Given the description of an element on the screen output the (x, y) to click on. 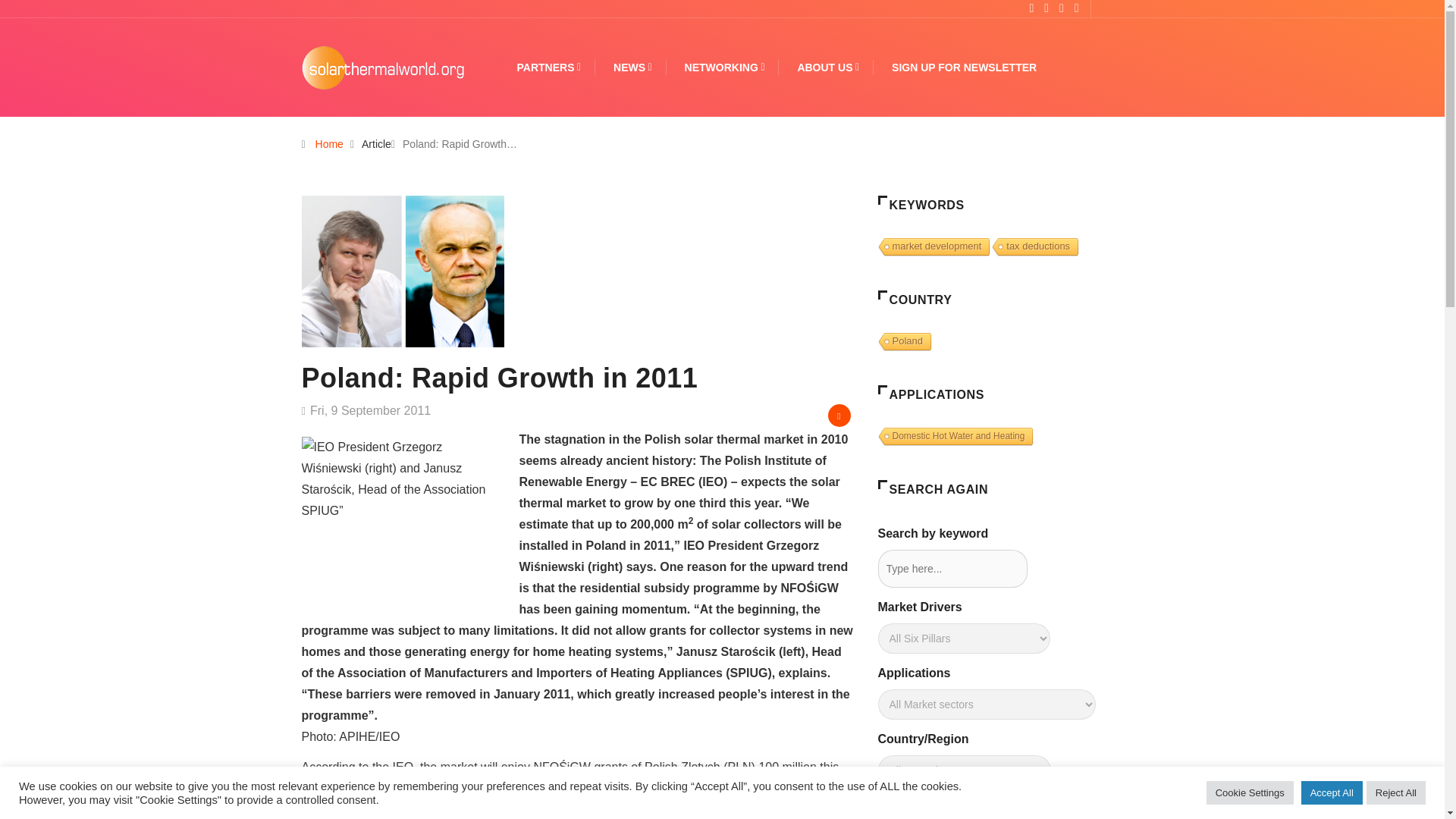
SIGN UP FOR NEWSLETTER (963, 67)
Poland (903, 342)
market development (933, 247)
tax deductions (1033, 247)
regional operational programmes (662, 788)
Home (329, 143)
